Given the description of an element on the screen output the (x, y) to click on. 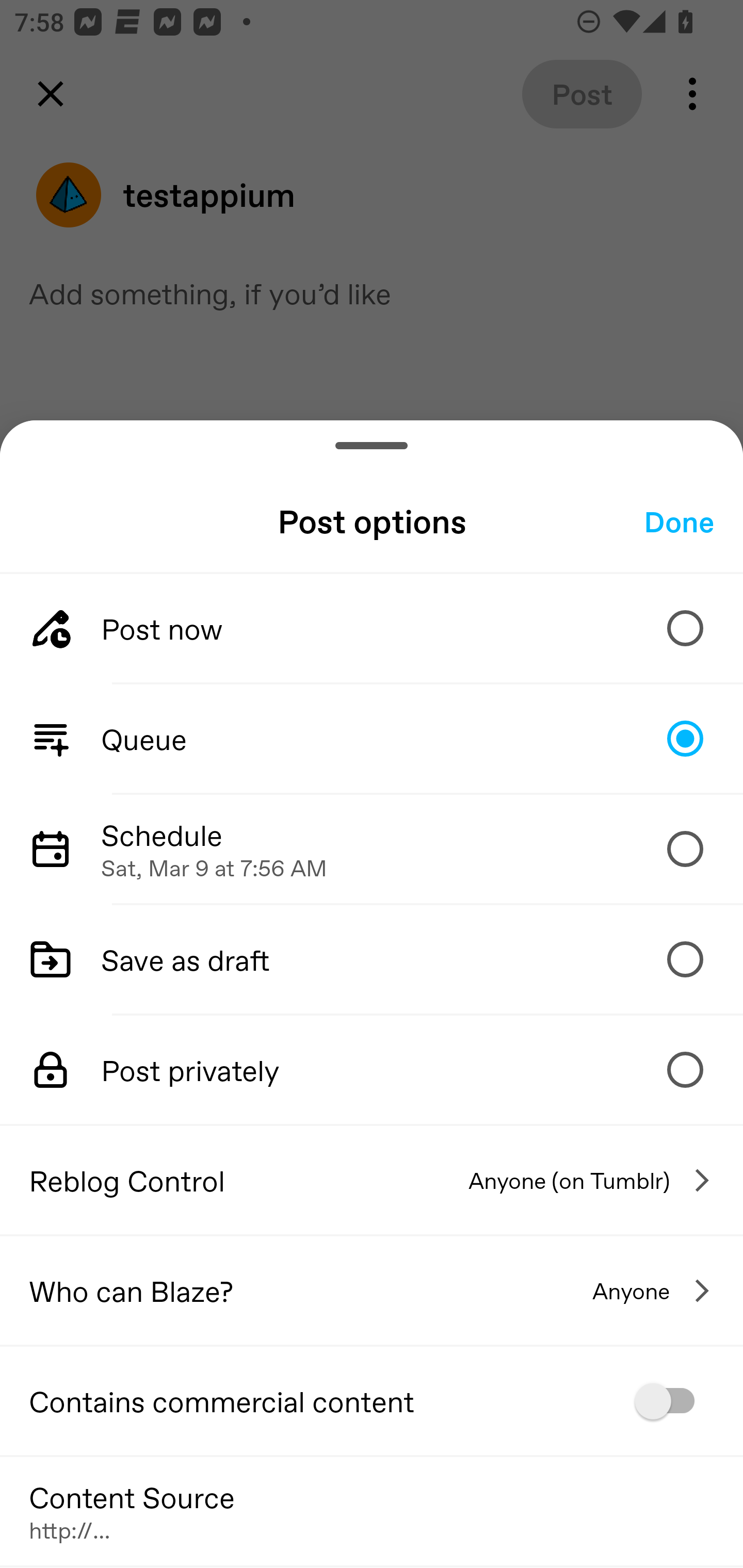
Done (679, 521)
Post now (371, 627)
Queue (371, 739)
Schedule Sat, Mar 9 at 7:56 AM (371, 848)
Save as draft (371, 958)
Post privately (371, 1070)
Reblog Control Anyone (on Tumblr) (371, 1179)
Who can Blaze? Anyone (371, 1290)
Contains commercial content (371, 1400)
Content Source http://… (371, 1510)
